Given the description of an element on the screen output the (x, y) to click on. 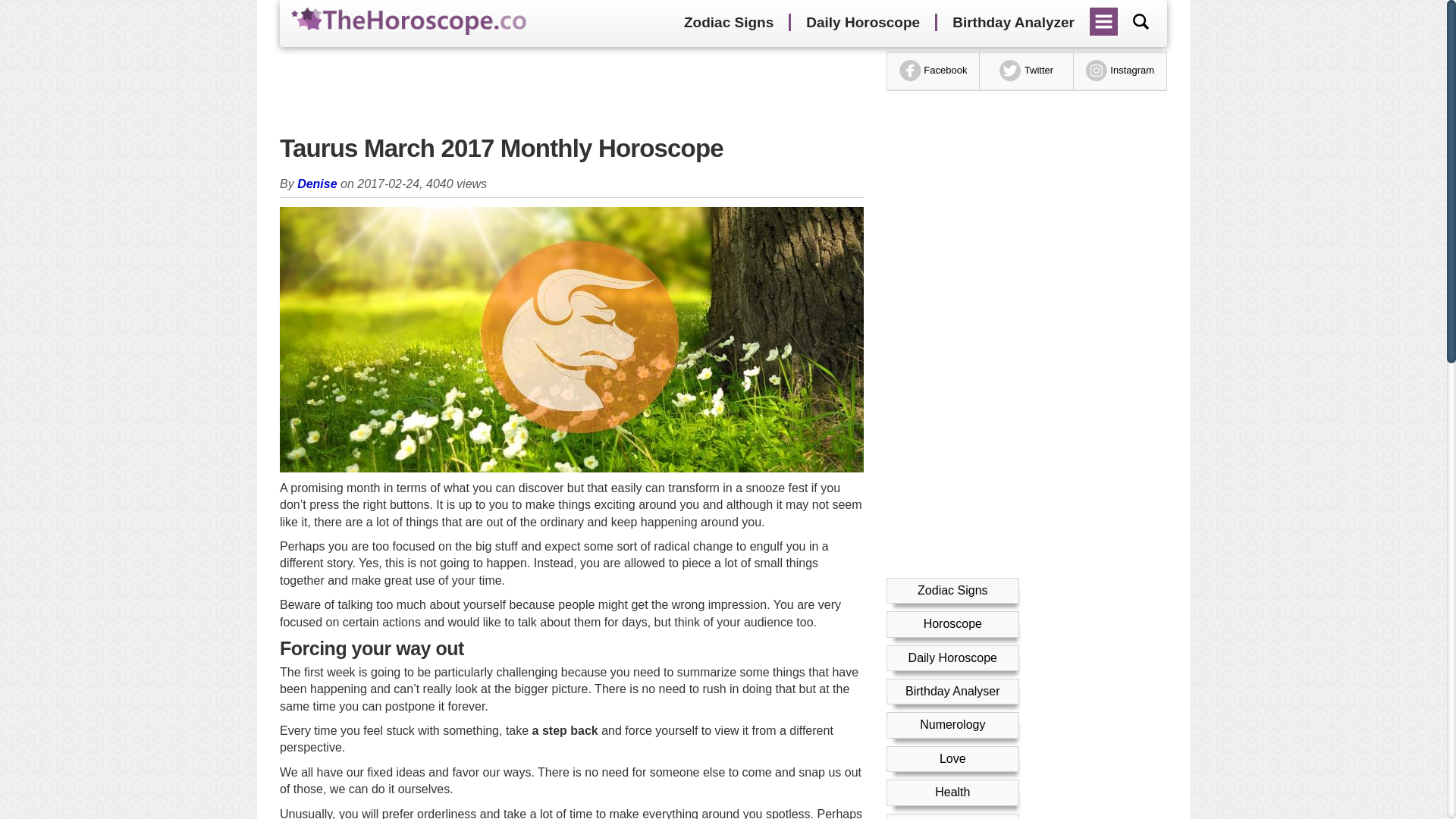
Love (952, 758)
Birthday Analyser (952, 690)
Numerology (952, 724)
Birthday Analyzer (1013, 22)
Daily Horoscope (862, 22)
Daily Horoscope (952, 657)
Health (952, 791)
Zodiac Signs (952, 590)
Menu (1104, 16)
Horoscope (952, 623)
Zodiac Signs (728, 22)
Search by your birthday... (1140, 21)
